Given the description of an element on the screen output the (x, y) to click on. 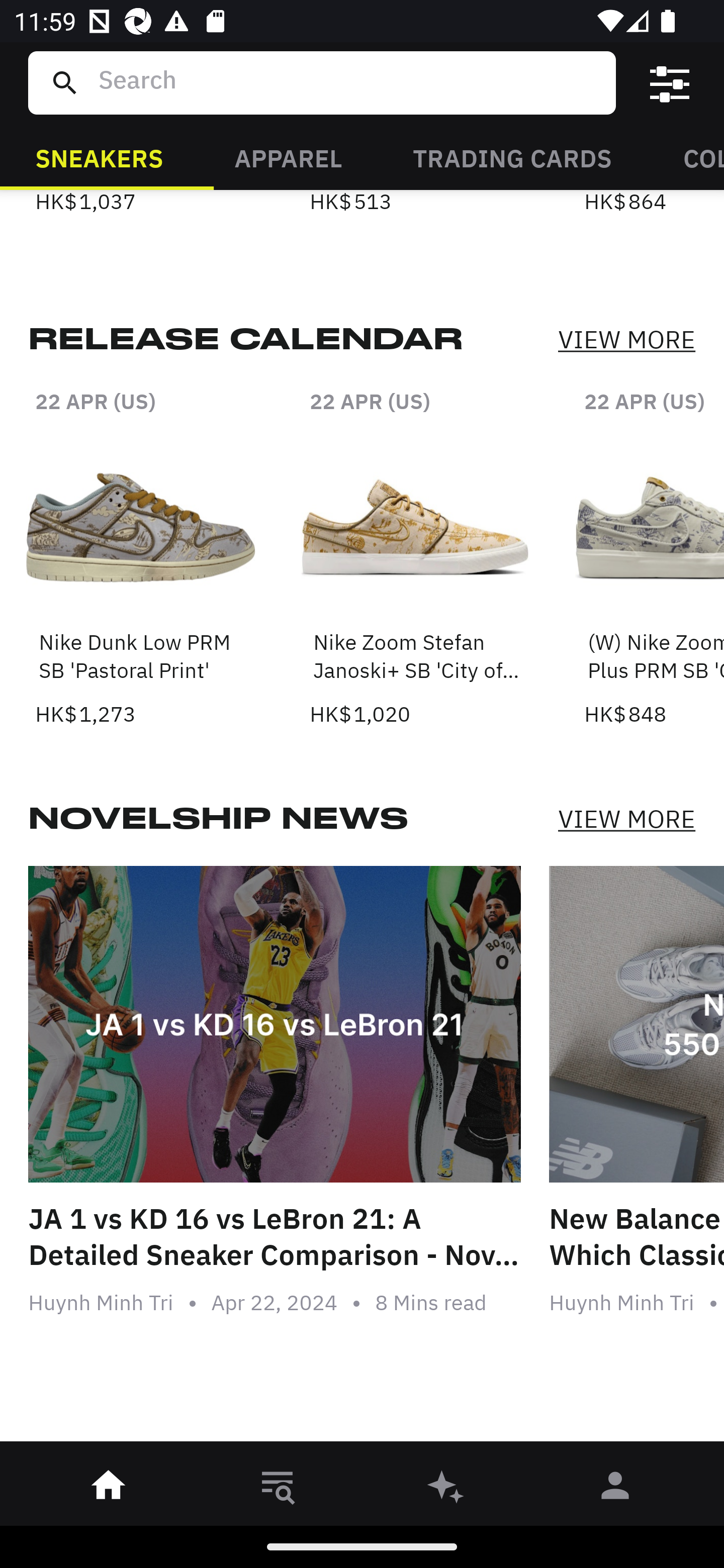
Search (349, 82)
 (669, 82)
SNEAKERS (99, 156)
APPAREL (287, 156)
TRADING CARDS (512, 156)
VIEW MORE (626, 339)
VIEW MORE (626, 818)
󰋜 (108, 1488)
󱎸 (277, 1488)
󰫢 (446, 1488)
󰀄 (615, 1488)
